Given the description of an element on the screen output the (x, y) to click on. 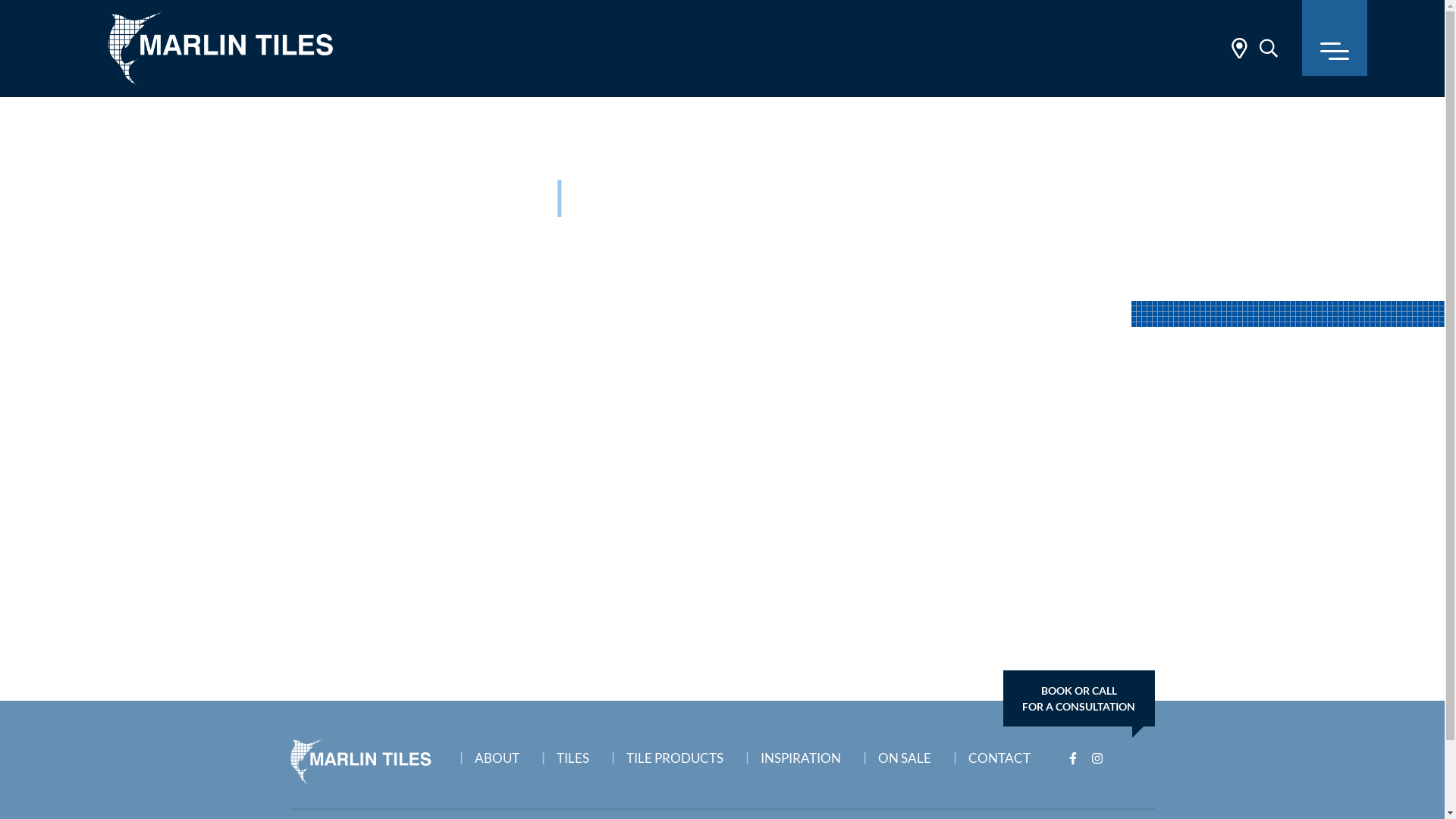
CONTACT Element type: text (1004, 753)
BOOK OR CALL
FOR A CONSULTATION Element type: text (1078, 698)
ON SALE Element type: text (909, 753)
ABOUT Element type: text (501, 753)
TILES Element type: text (577, 753)
Go Element type: text (1103, 155)
INSPIRATION Element type: text (806, 753)
TILE PRODUCTS Element type: text (679, 753)
